Given the description of an element on the screen output the (x, y) to click on. 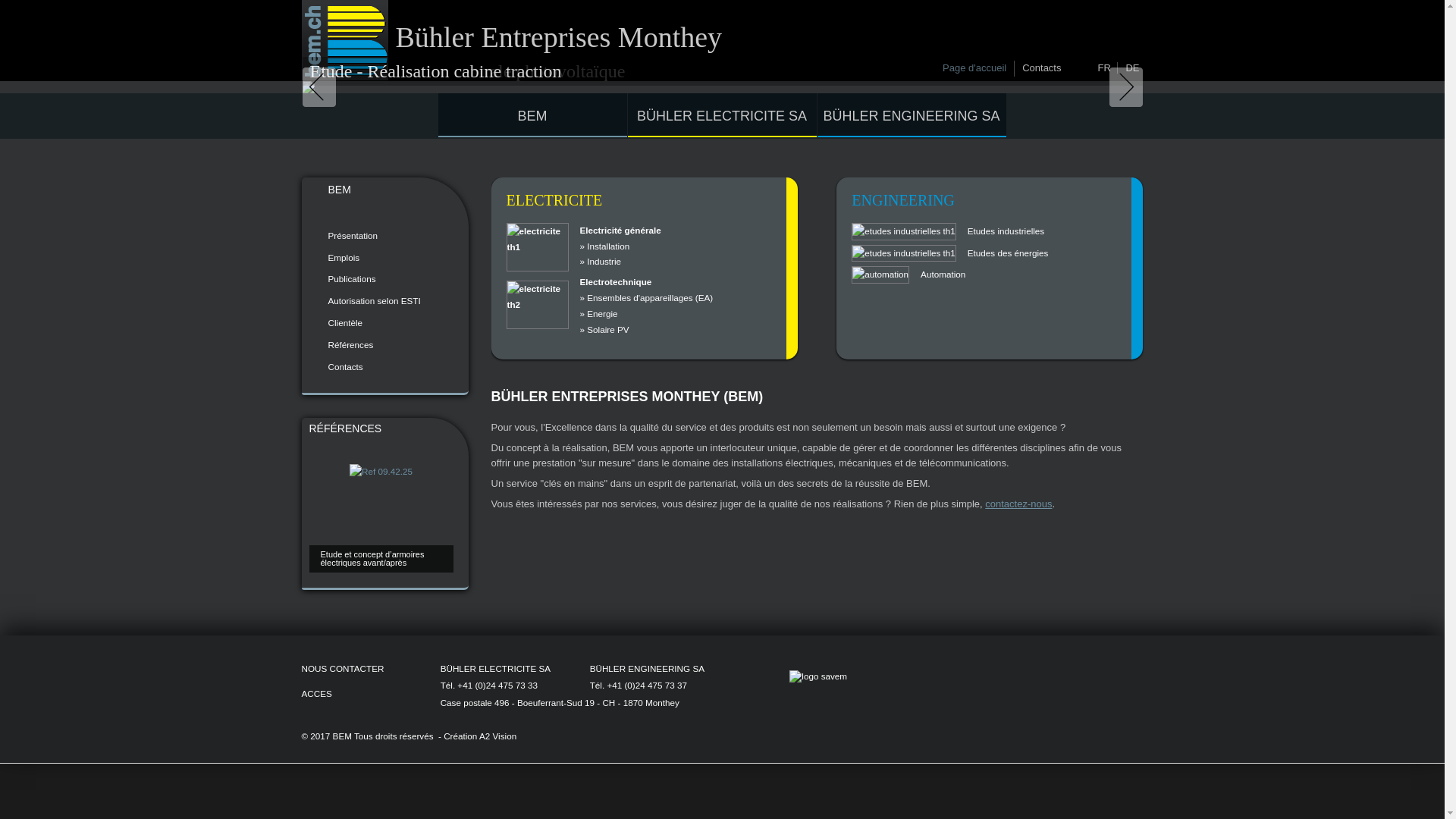
Certificat IQNet Element type: hover (931, 668)
NOUS CONTACTER Element type: text (342, 668)
Ensembles d'appareillages (EA) Element type: text (649, 297)
Automation Element type: text (942, 274)
Solaire PV Element type: text (607, 329)
Installation Element type: text (607, 246)
Publications Element type: text (382, 279)
Emplois Element type: text (382, 258)
contactez-nous Element type: text (1018, 503)
A2 Vision Element type: text (497, 735)
Contacts Element type: text (382, 367)
Certificat SQS Element type: hover (939, 668)
Contacts Element type: text (1041, 68)
BEM Element type: text (532, 115)
Next Element type: text (1122, 86)
Industrie Element type: text (603, 261)
Autorisation selon ESTI Element type: text (382, 301)
FR Element type: text (1105, 67)
ACCES Element type: text (316, 693)
Etudes industrielles Element type: text (1005, 230)
DE Element type: text (1132, 67)
Previous Element type: text (321, 86)
Page d'accueil Element type: text (974, 68)
Energie Element type: text (601, 313)
